Given the description of an element on the screen output the (x, y) to click on. 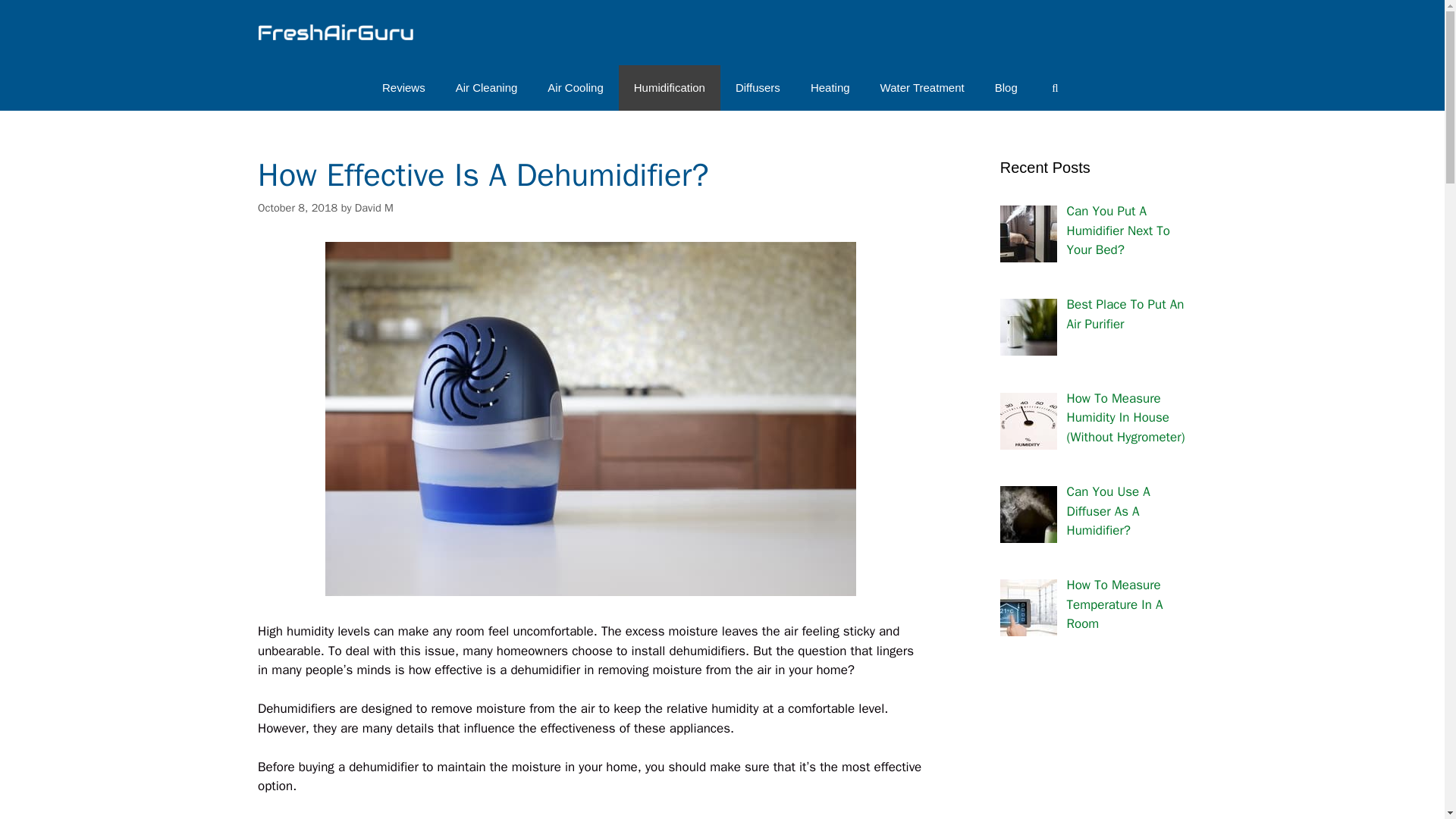
Heating (829, 87)
Can You Put A Humidifier Next To Your Bed? (1117, 230)
Humidification (669, 87)
Reviews (403, 87)
Air Cooling (574, 87)
Can You Use A Diffuser As A Humidifier? (1107, 511)
Air Cleaning (486, 87)
Blog (1005, 87)
Diffusers (757, 87)
Water Treatment (921, 87)
